Given the description of an element on the screen output the (x, y) to click on. 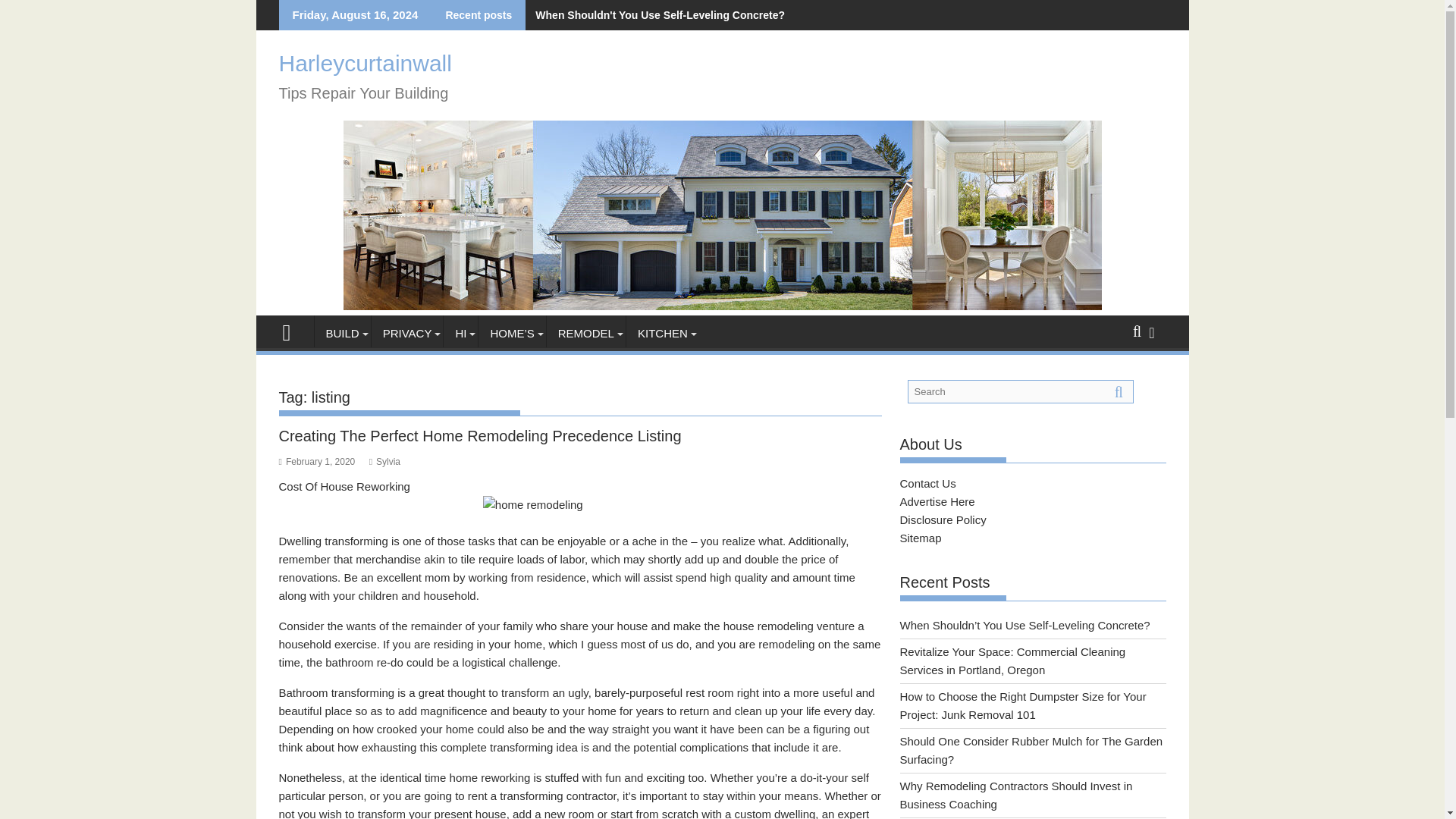
Harleycurtainwall (721, 305)
HI (460, 333)
Harleycurtainwall (365, 63)
Harleycurtainwall (293, 331)
PRIVACY (407, 333)
REMODEL (586, 333)
KITCHEN (662, 333)
When Shouldn't You Use Self-Leveling Concrete?  (656, 15)
BUILD (341, 333)
